Given the description of an element on the screen output the (x, y) to click on. 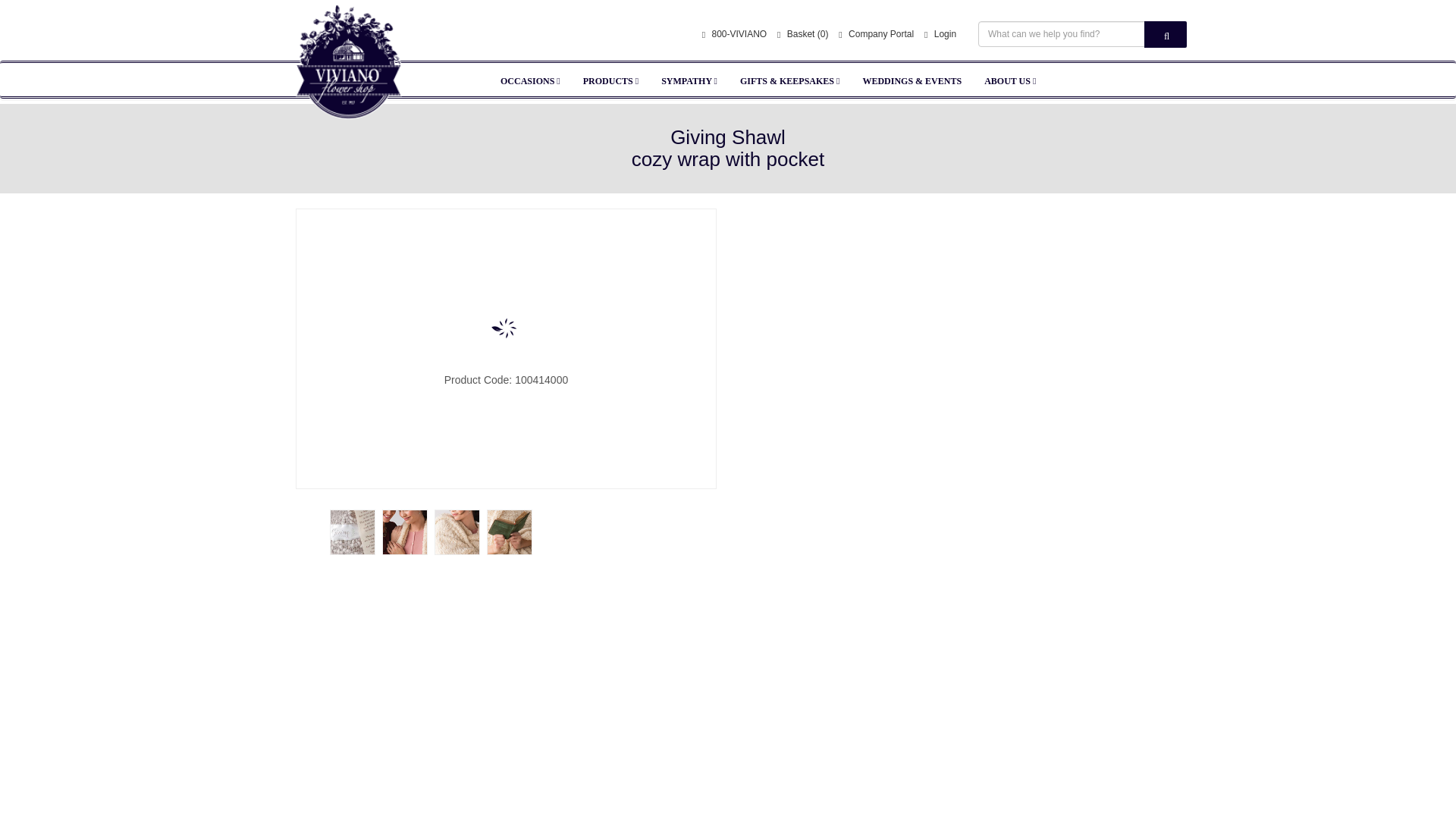
SYMPATHY (689, 80)
PRODUCTS (610, 80)
Login (940, 34)
Company Portal (876, 34)
Viviano Flower Shop - Home (348, 95)
OCCASIONS (530, 80)
800-VIVIANO (734, 34)
